Given the description of an element on the screen output the (x, y) to click on. 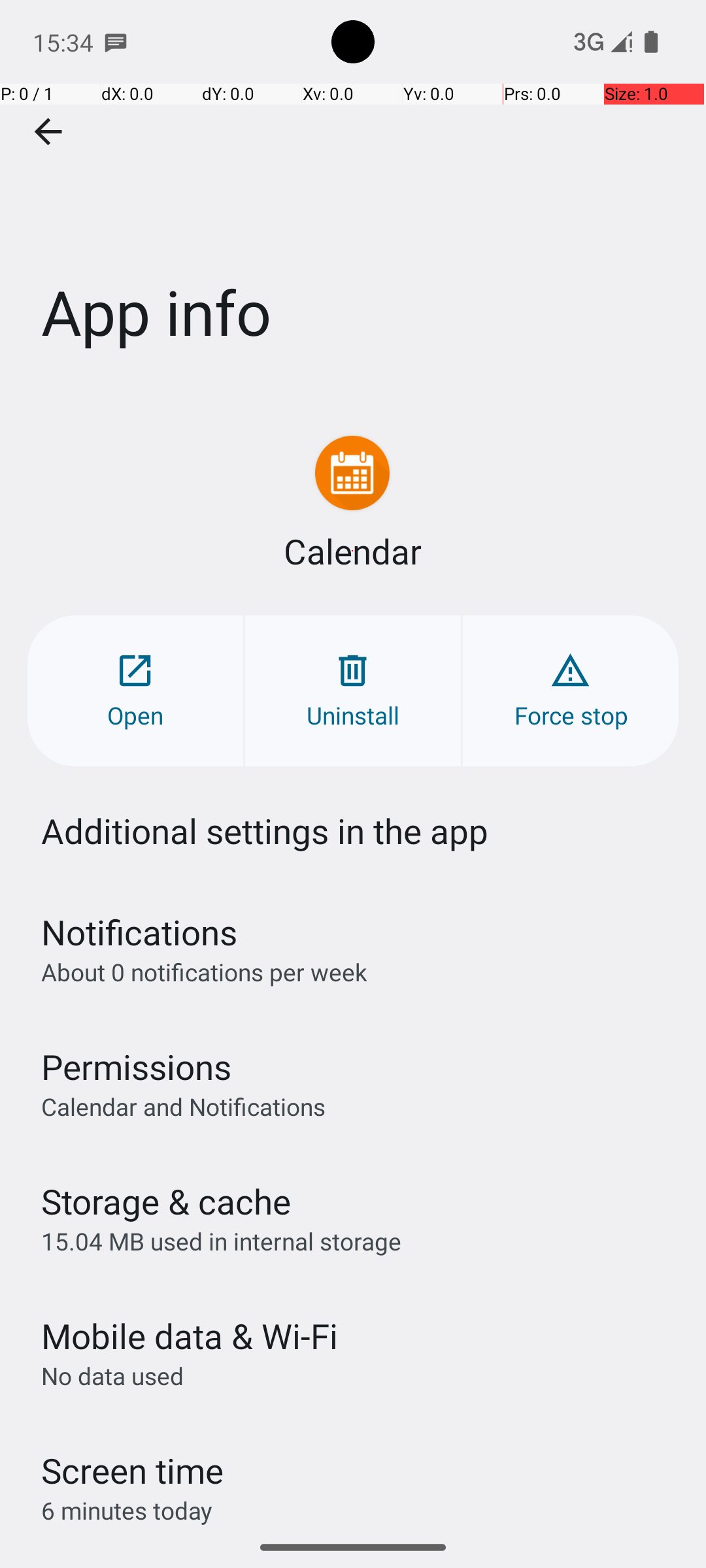
App info Element type: android.widget.FrameLayout (353, 195)
Open Element type: android.widget.Button (135, 690)
Uninstall Element type: android.widget.Button (352, 690)
Force stop Element type: android.widget.Button (570, 690)
Additional settings in the app Element type: android.widget.TextView (264, 830)
Notifications Element type: android.widget.TextView (139, 931)
About 0 notifications per week Element type: android.widget.TextView (204, 971)
Permissions Element type: android.widget.TextView (136, 1066)
Calendar and Notifications Element type: android.widget.TextView (183, 1106)
Storage & cache Element type: android.widget.TextView (166, 1200)
15.04 MB used in internal storage Element type: android.widget.TextView (221, 1240)
Mobile data & Wi‑Fi Element type: android.widget.TextView (189, 1335)
No data used Element type: android.widget.TextView (112, 1375)
Screen time Element type: android.widget.TextView (132, 1470)
6 minutes today Element type: android.widget.TextView (127, 1509)
